Given the description of an element on the screen output the (x, y) to click on. 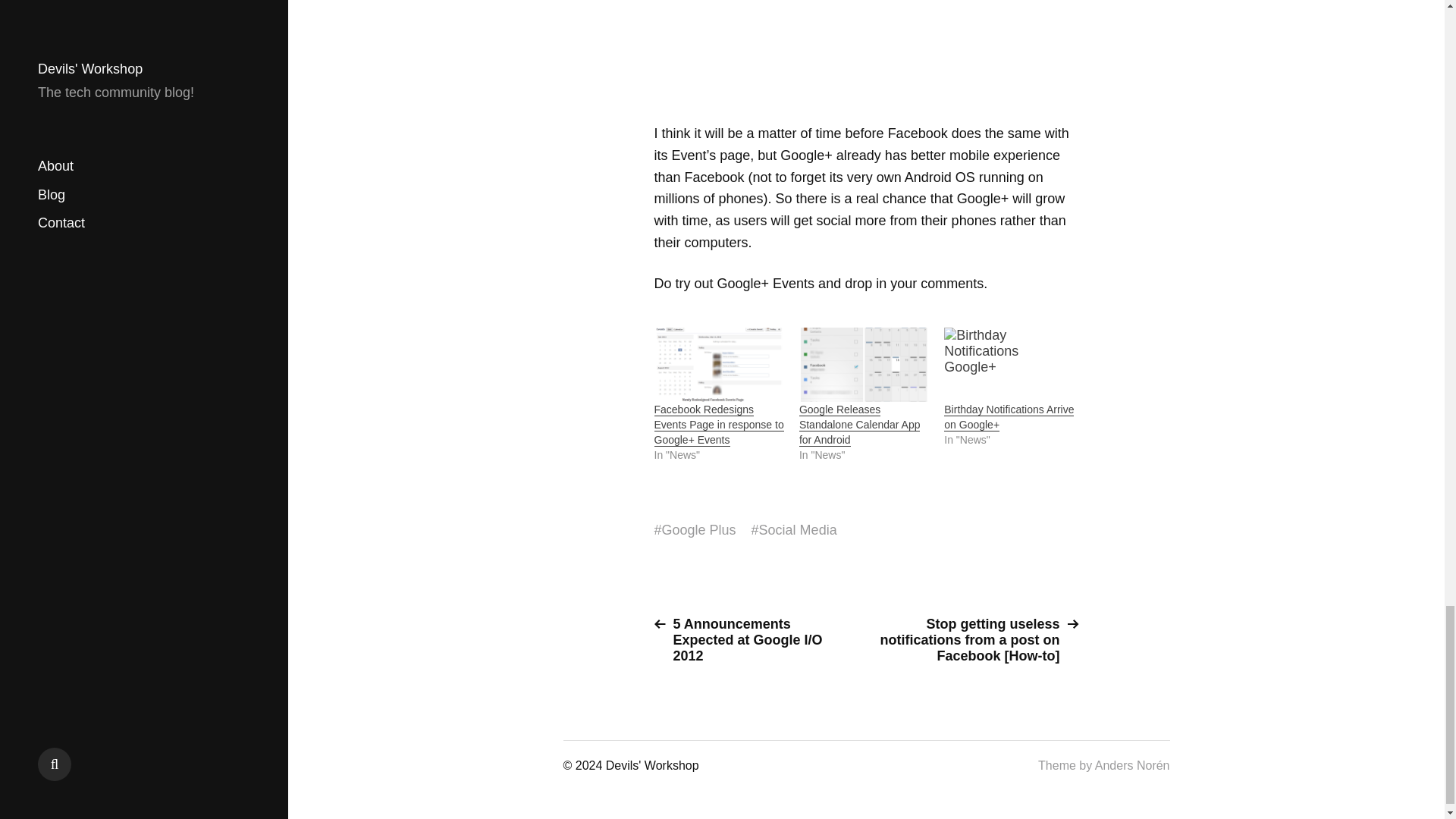
Google Releases Standalone Calendar App for Android (859, 424)
Google Releases Standalone Calendar App for Android (863, 364)
Devils' Workshop (651, 766)
Google Plus (699, 530)
Google Releases Standalone Calendar App for Android (859, 424)
Social Media (797, 530)
